Given the description of an element on the screen output the (x, y) to click on. 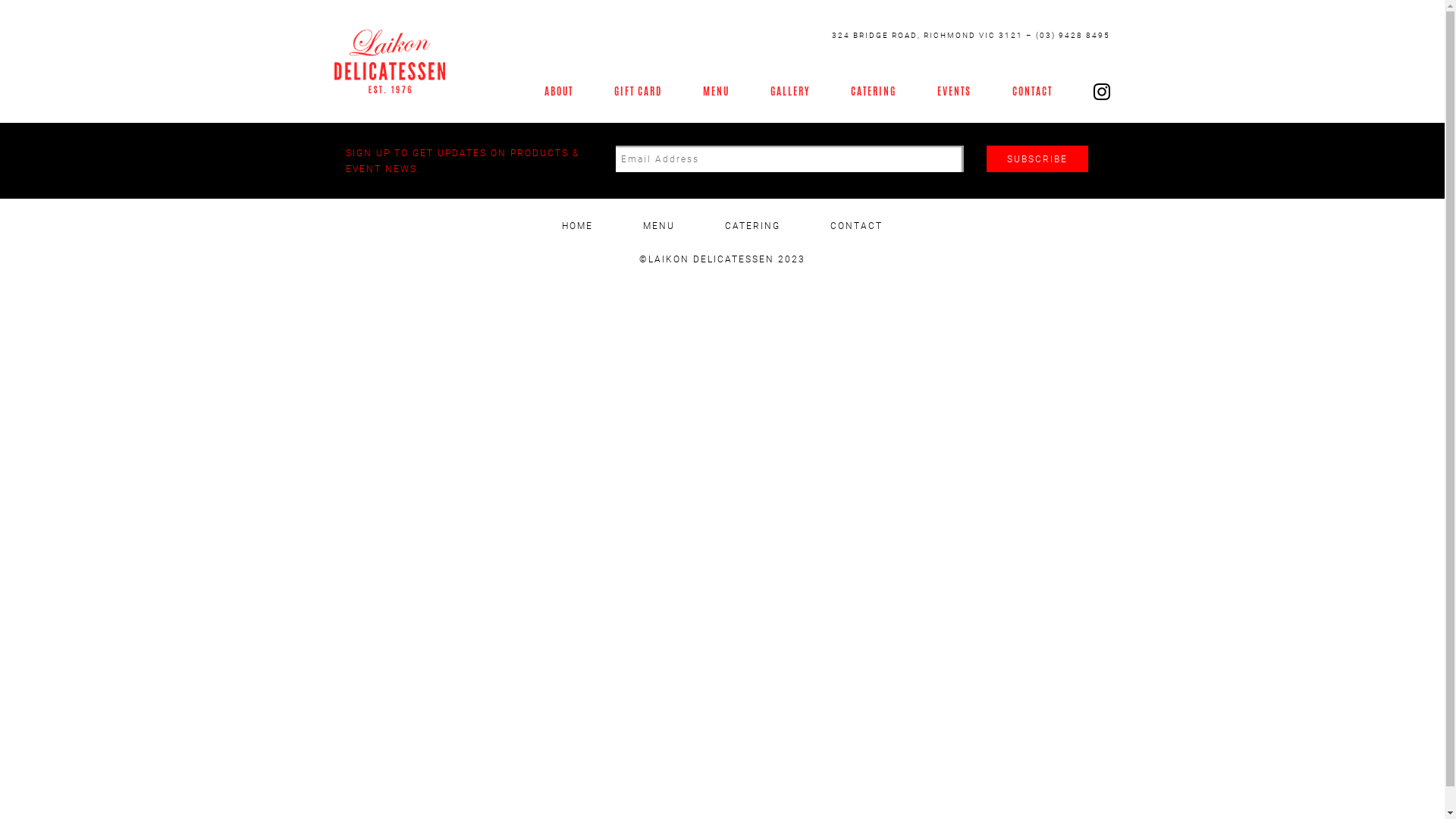
GIFT CARD Element type: text (638, 91)
Instagram Element type: hover (1101, 91)
HOME Element type: text (577, 225)
CONTACT Element type: text (1032, 91)
ABOUT Element type: text (558, 91)
CATERING Element type: text (873, 91)
CATERING Element type: text (752, 225)
MENU Element type: text (658, 225)
CONTACT Element type: text (856, 225)
GALLERY Element type: text (789, 91)
SUBSCRIBE Element type: text (1036, 158)
MENU Element type: text (715, 91)
EVENTS Element type: text (954, 91)
